Given the description of an element on the screen output the (x, y) to click on. 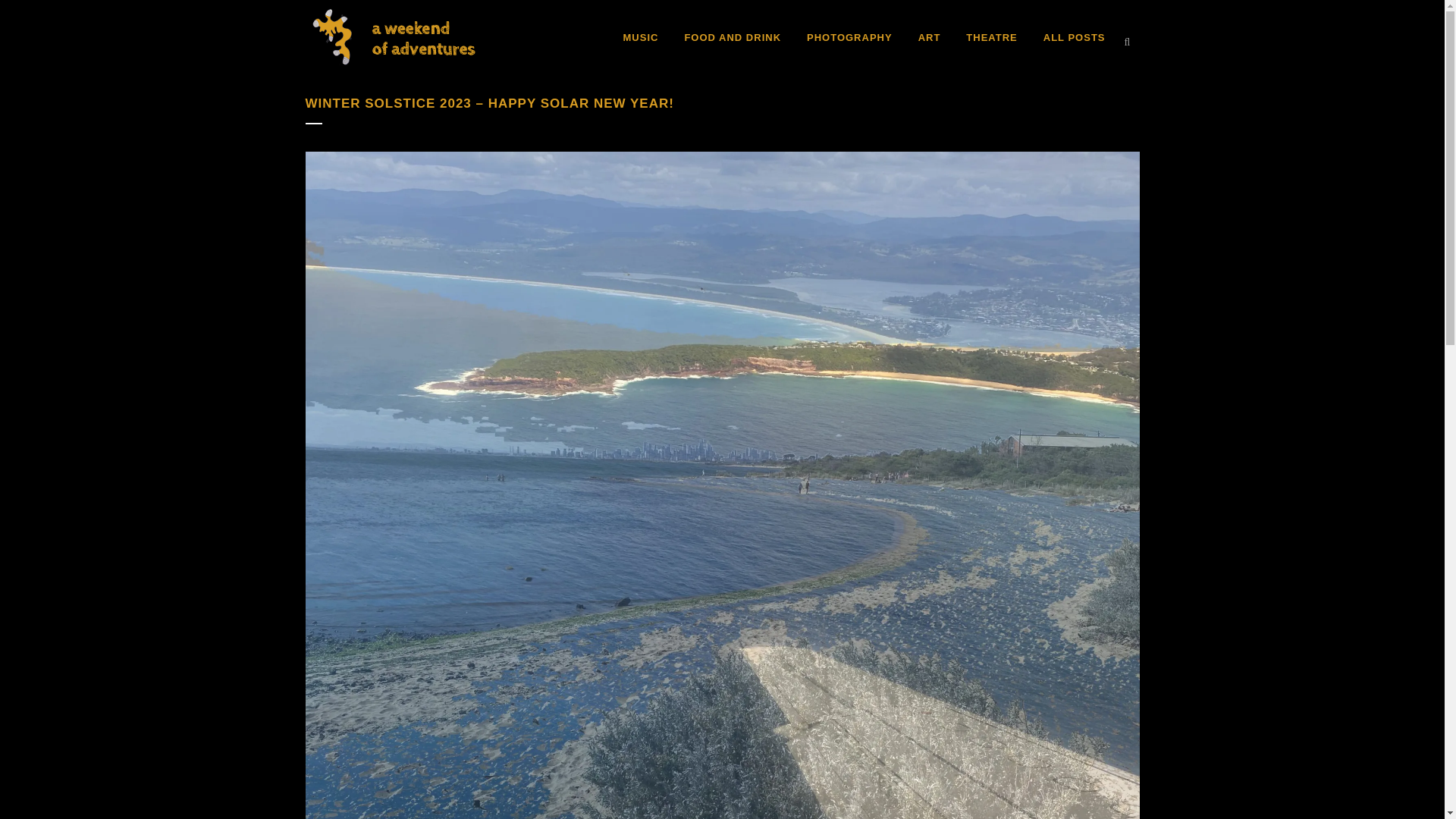
ALL POSTS (1074, 38)
PHOTOGRAPHY (849, 38)
FOOD AND DRINK (732, 38)
MUSIC (640, 38)
ART (929, 38)
THEATRE (991, 38)
